Given the description of an element on the screen output the (x, y) to click on. 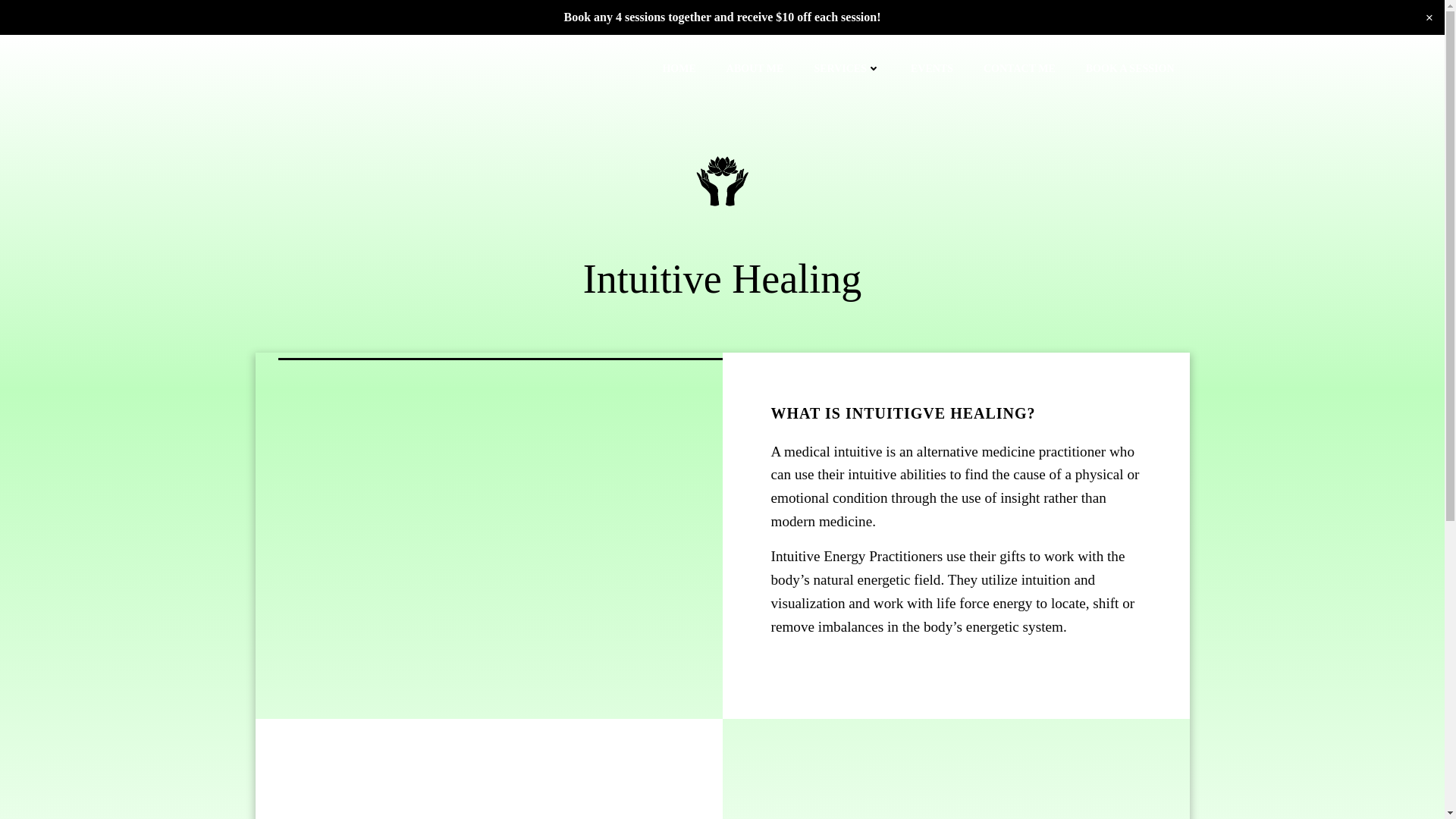
HOME (678, 68)
SERVICES (846, 68)
ABOUT ME (755, 68)
CONTACT ME (1019, 68)
BOOK A SESSION (1130, 68)
EVENTS (932, 68)
